Given the description of an element on the screen output the (x, y) to click on. 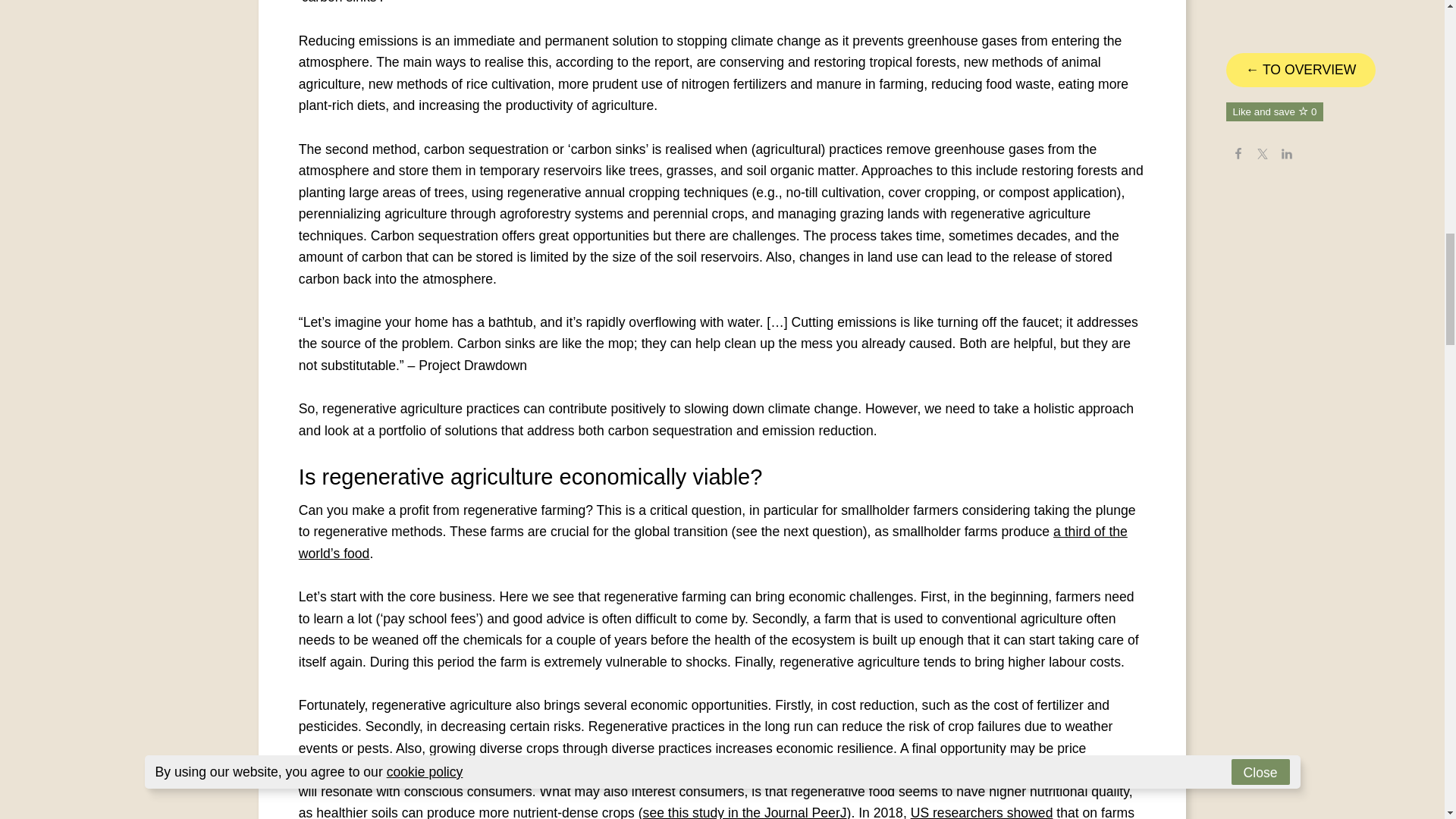
see this study in the Journal PeerJ (745, 812)
US researchers showed (981, 812)
this research (503, 769)
